Given the description of an element on the screen output the (x, y) to click on. 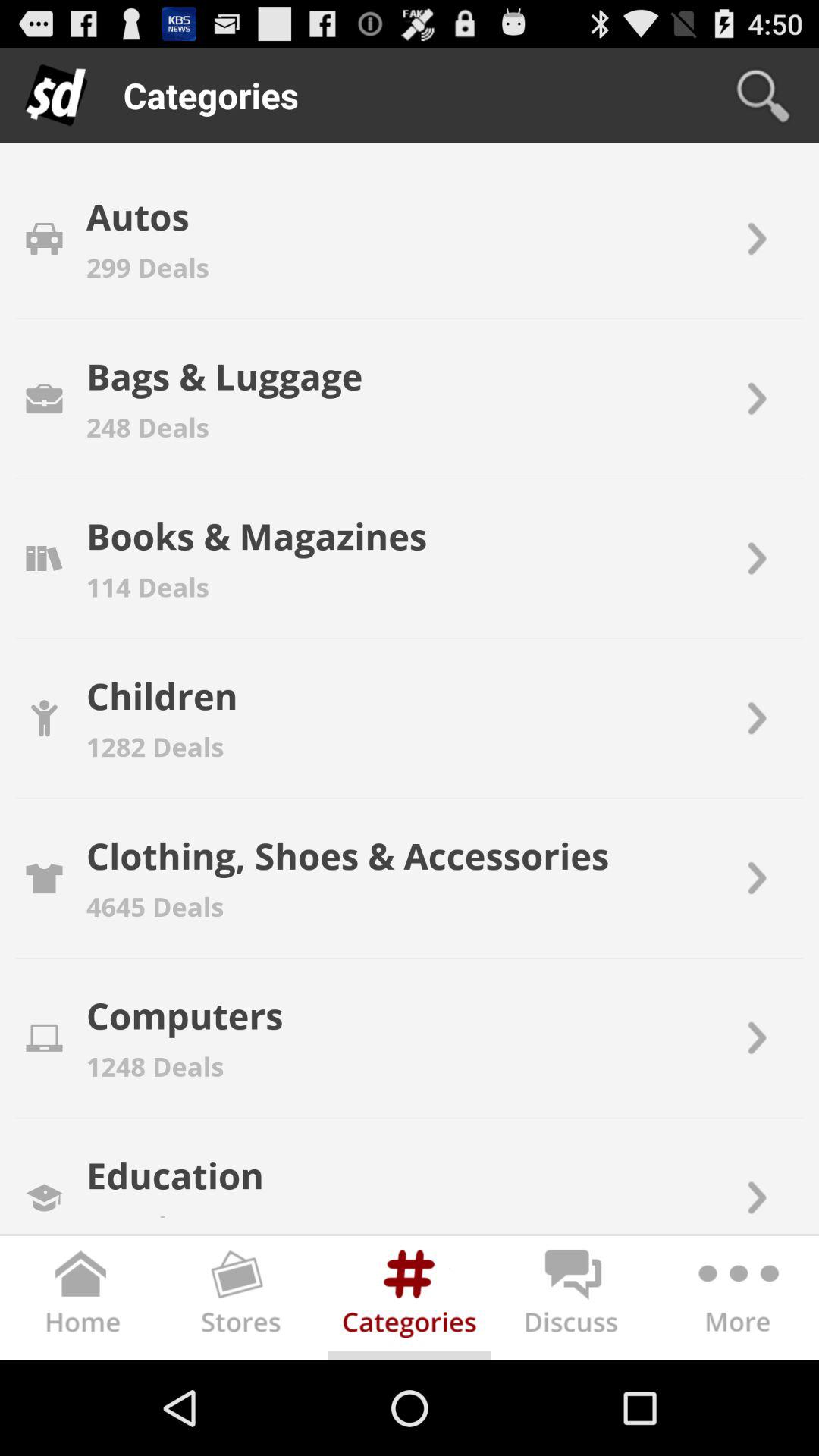
turn off the app below bags & luggage app (147, 426)
